Given the description of an element on the screen output the (x, y) to click on. 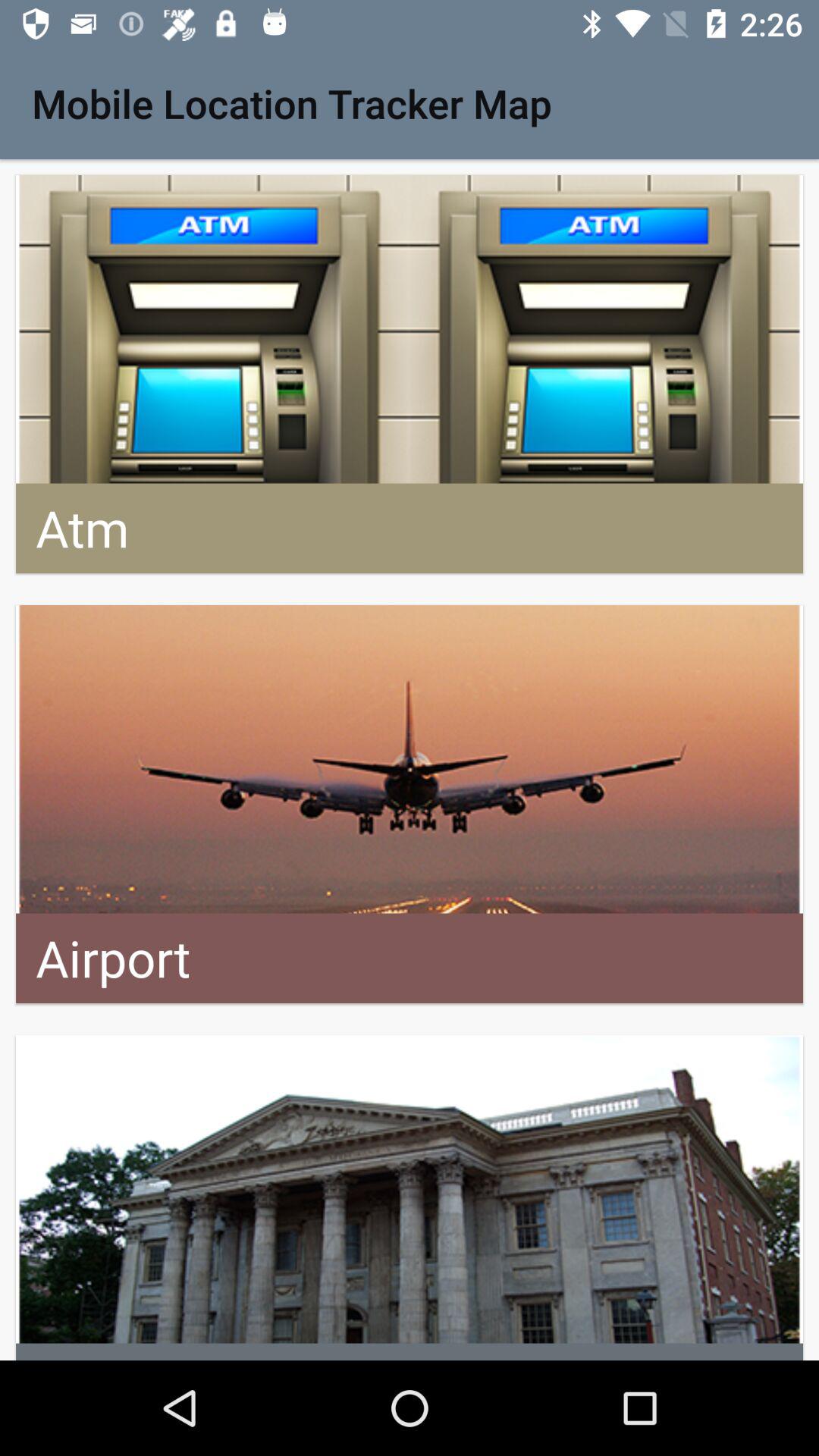
find atms (409, 374)
